Given the description of an element on the screen output the (x, y) to click on. 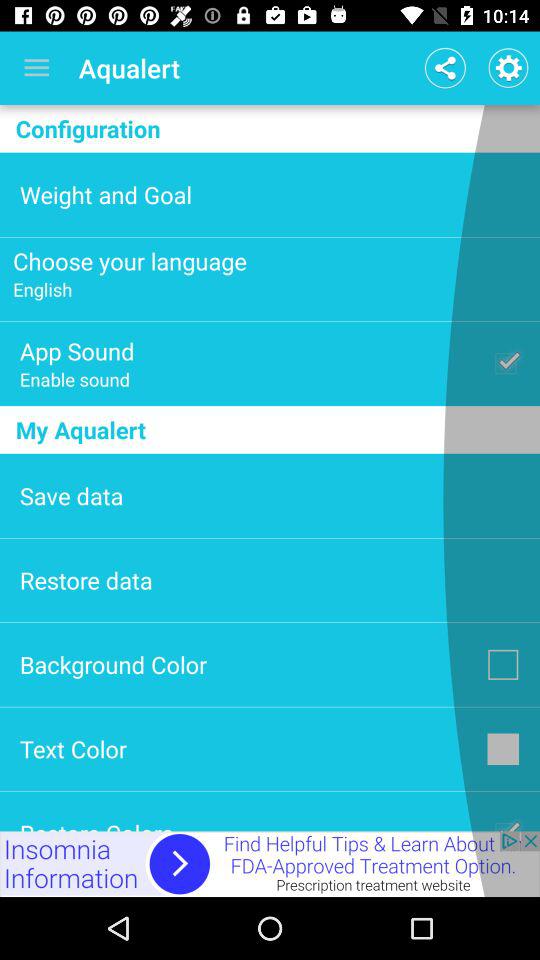
more information about an advertisement (270, 864)
